Given the description of an element on the screen output the (x, y) to click on. 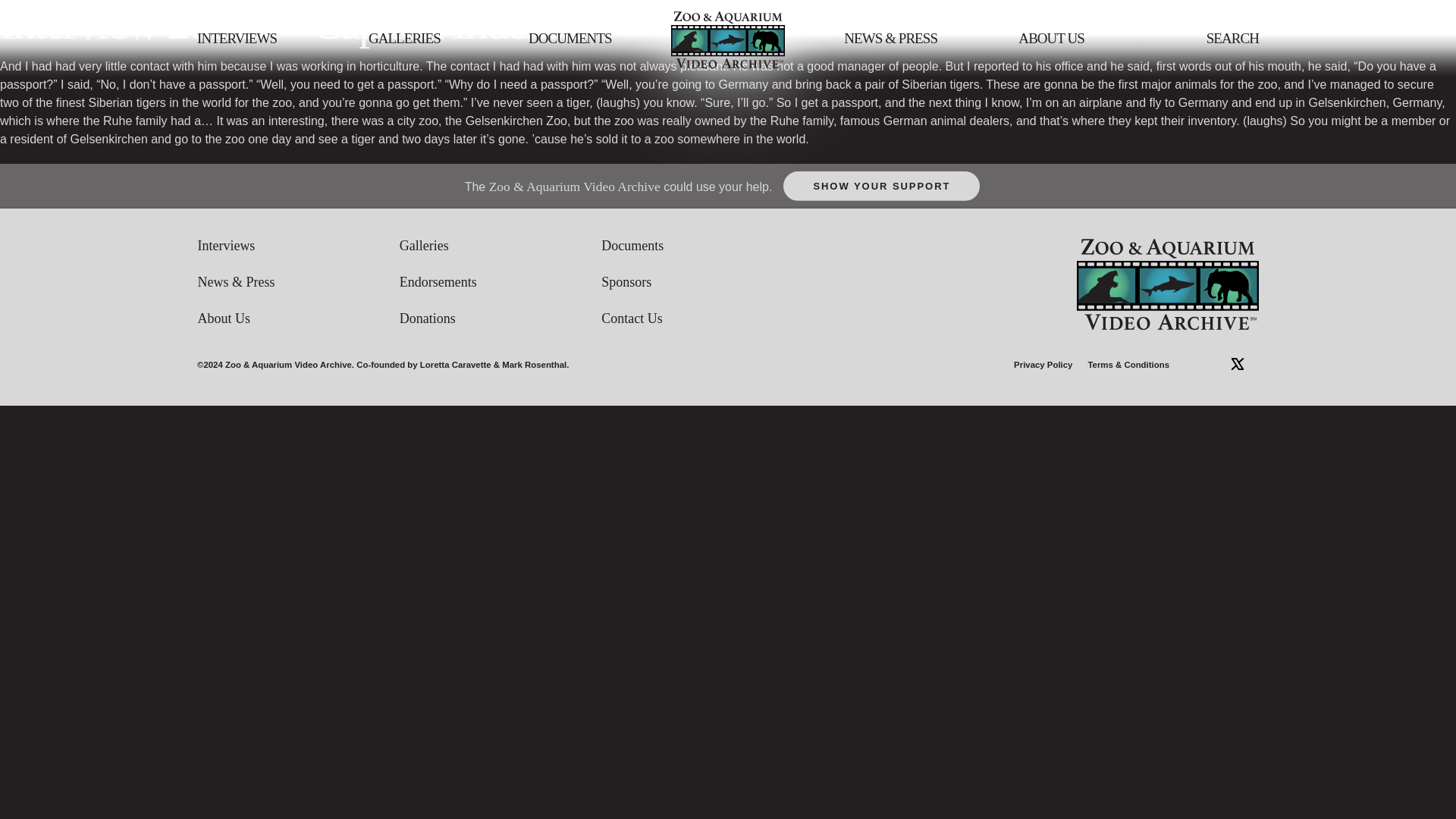
Interviews (297, 245)
Documents (702, 245)
GALLERIES (404, 39)
Sponsors (702, 282)
SEARCH (1233, 39)
Galleries (499, 245)
DOCUMENTS (569, 39)
SHOW YOUR SUPPORT (881, 185)
Endorsements (499, 282)
ABOUT US (1050, 39)
INTERVIEWS (236, 39)
Donations (499, 318)
Privacy Policy (1042, 365)
About Us (297, 318)
Contact Us (702, 318)
